Given the description of an element on the screen output the (x, y) to click on. 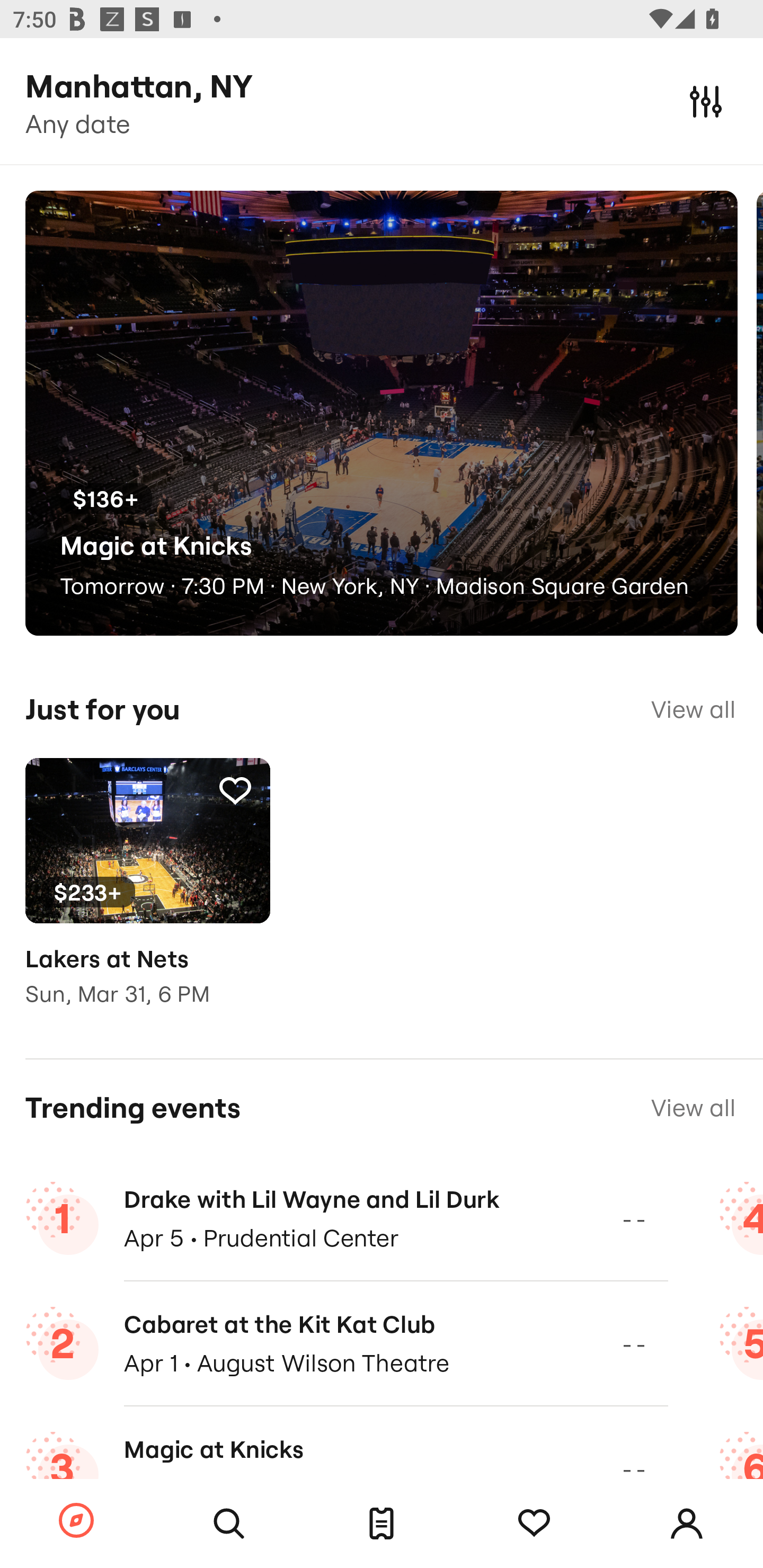
Filters (705, 100)
View all (693, 709)
Tracking $233+ Lakers at Nets Sun, Mar 31, 6 PM (147, 895)
Tracking (234, 790)
View all (693, 1108)
Browse (76, 1521)
Search (228, 1523)
Tickets (381, 1523)
Tracking (533, 1523)
Account (686, 1523)
